Given the description of an element on the screen output the (x, y) to click on. 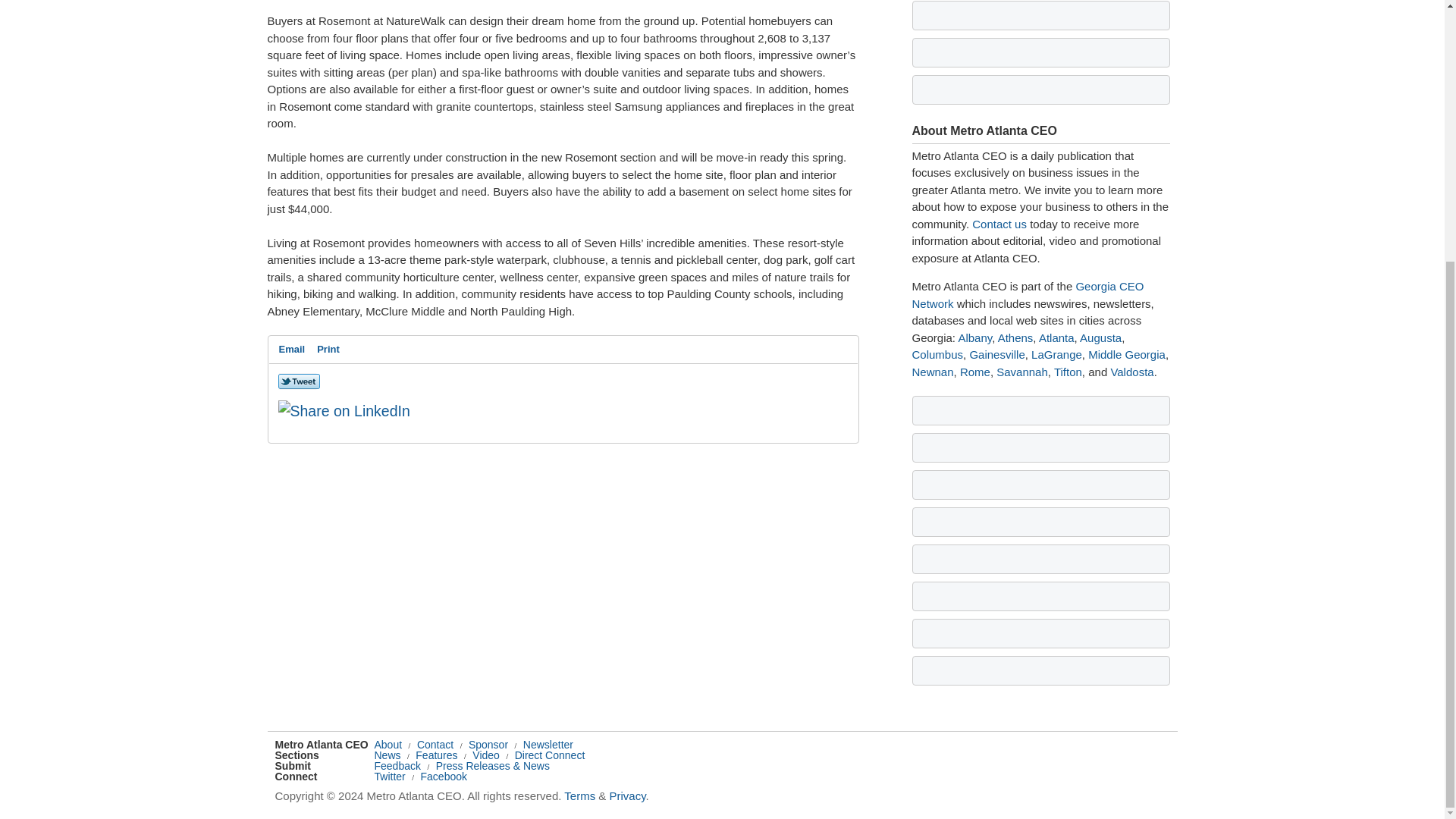
Georgia CEO Network (1026, 295)
Albany (974, 337)
Email (292, 349)
Contact us (999, 223)
Print (328, 349)
